Given the description of an element on the screen output the (x, y) to click on. 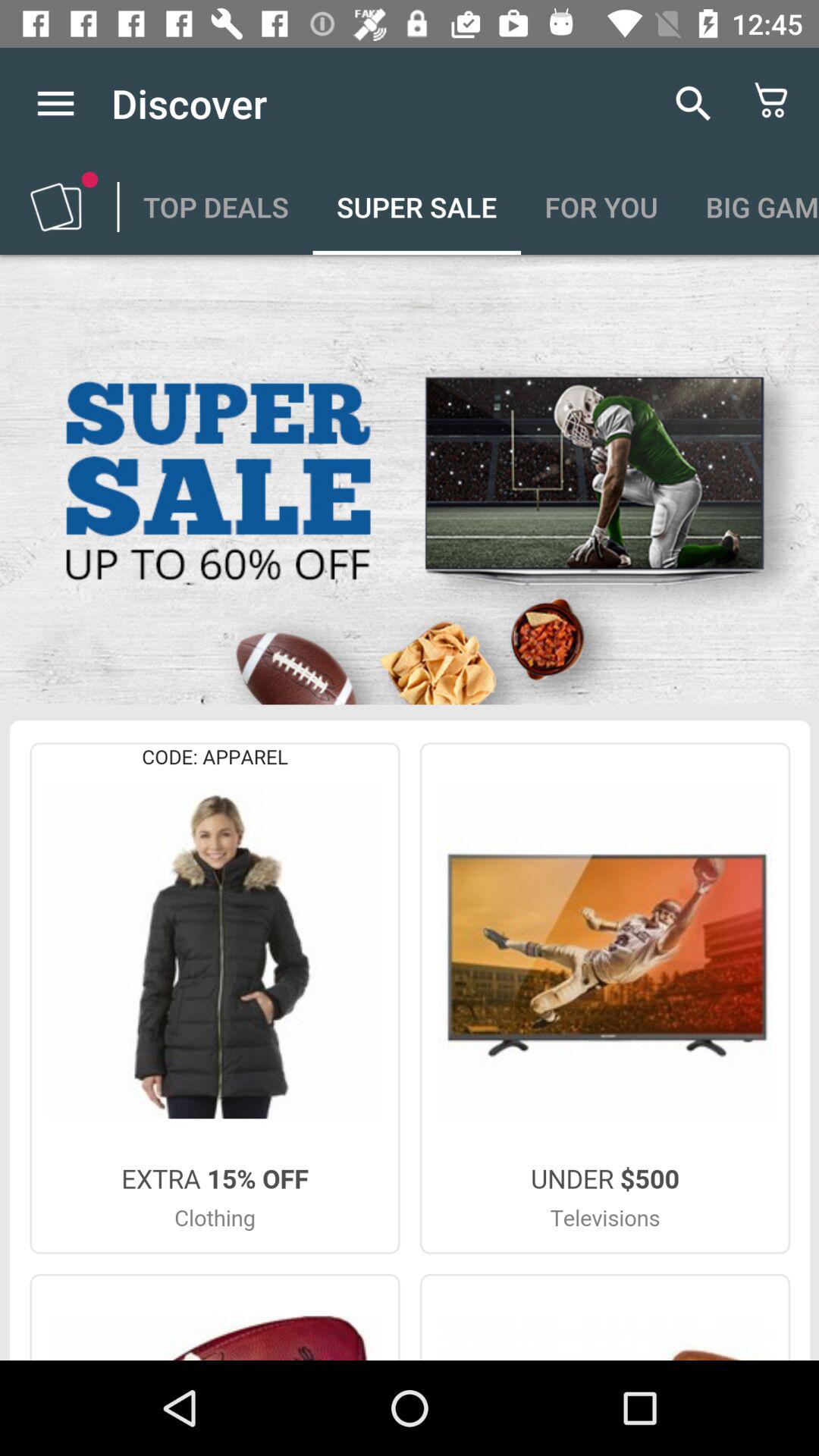
click on the button right to the text discover (693, 103)
click on the icon beside top deals (55, 206)
